Given the description of an element on the screen output the (x, y) to click on. 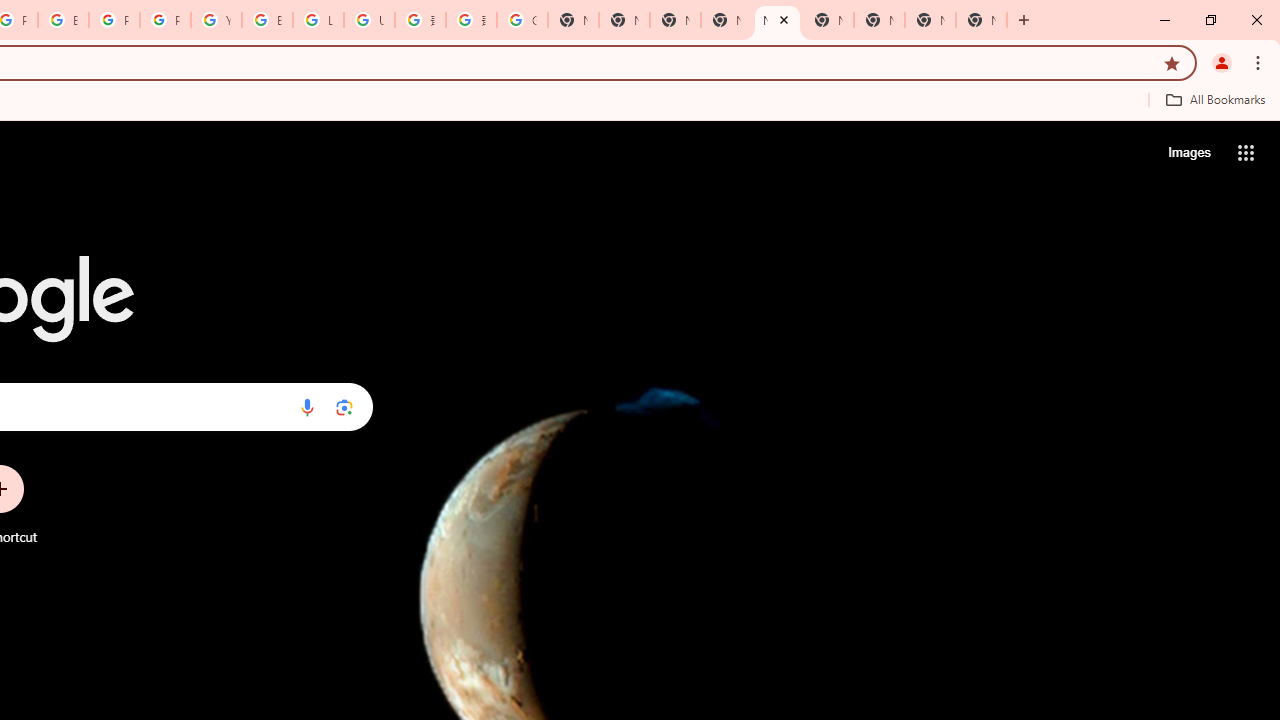
YouTube (215, 20)
Google Images (521, 20)
